Given the description of an element on the screen output the (x, y) to click on. 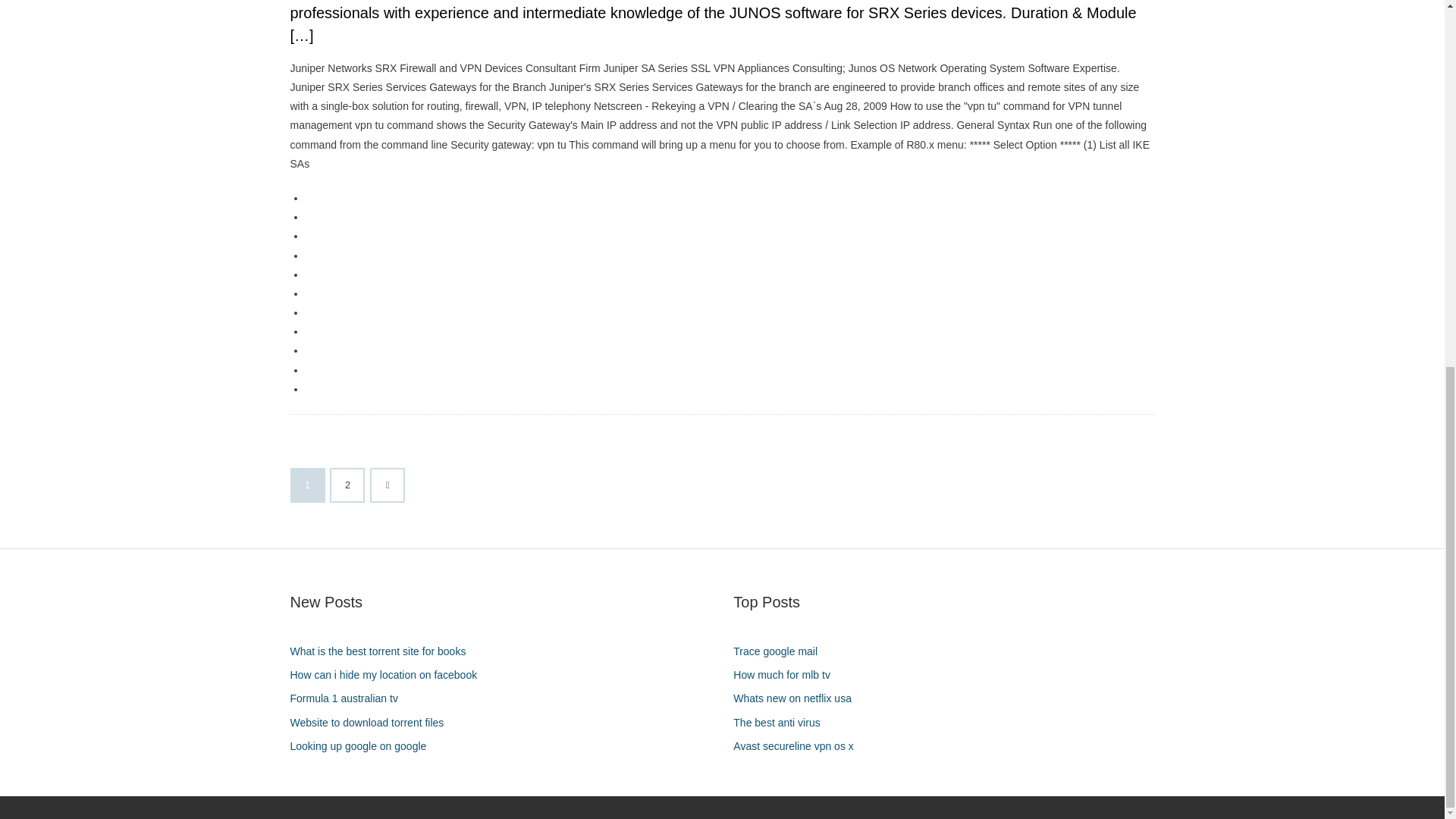
What is the best torrent site for books (383, 651)
Avast secureline vpn os x (798, 746)
Website to download torrent files (371, 722)
How can i hide my location on facebook (388, 675)
Trace google mail (780, 651)
How much for mlb tv (787, 675)
Whats new on netflix usa (798, 698)
The best anti virus (782, 722)
Looking up google on google (363, 746)
Formula 1 australian tv (349, 698)
